Given the description of an element on the screen output the (x, y) to click on. 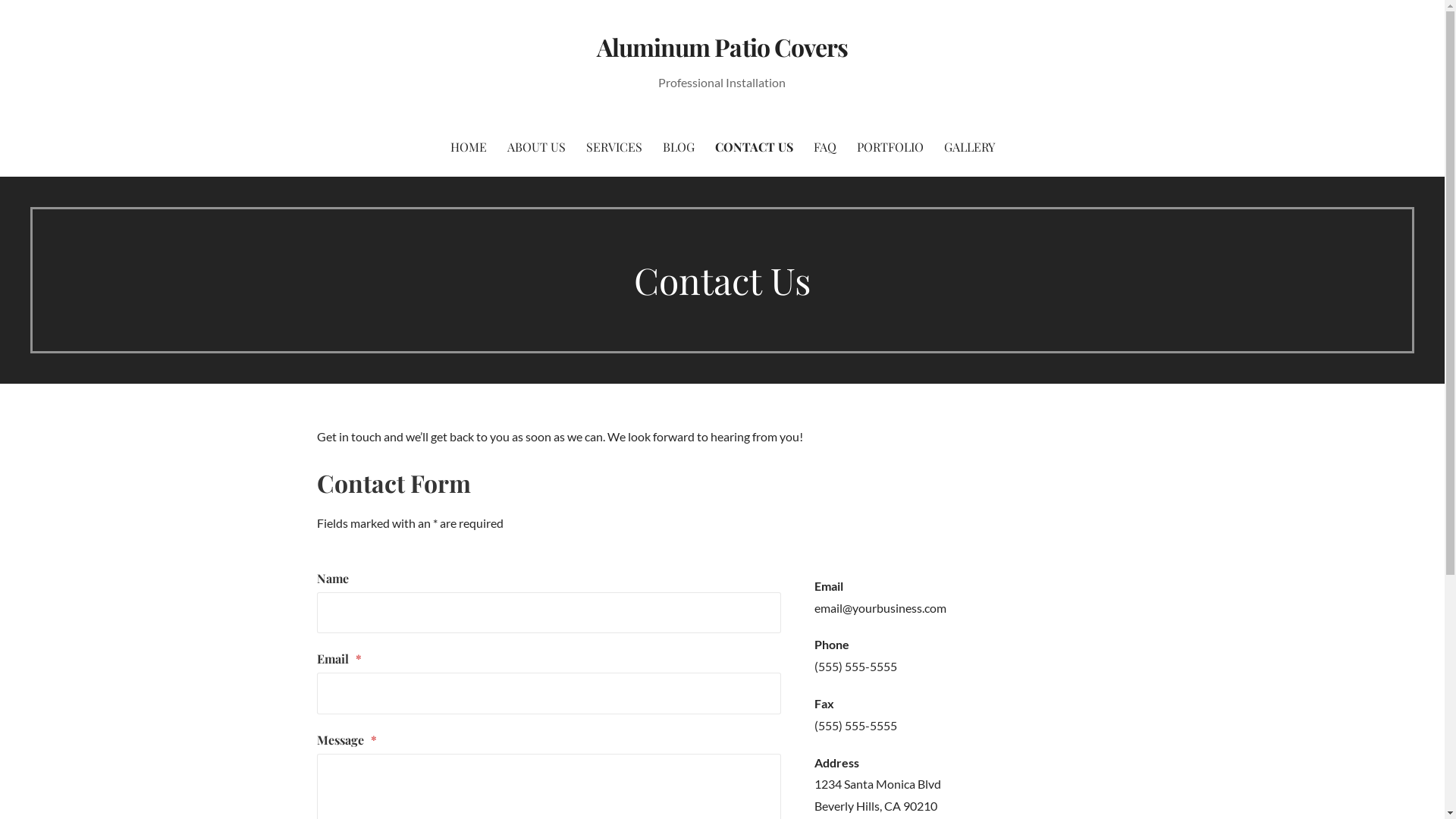
FAQ Element type: text (823, 147)
BLOG Element type: text (678, 147)
email@yourbusiness.com Element type: text (880, 607)
GALLERY Element type: text (968, 147)
SERVICES Element type: text (613, 147)
CONTACT US Element type: text (753, 147)
HOME Element type: text (468, 147)
Skip to content Element type: text (0, 0)
PORTFOLIO Element type: text (889, 147)
ABOUT US Element type: text (535, 147)
Aluminum Patio Covers Element type: text (721, 46)
